Given the description of an element on the screen output the (x, y) to click on. 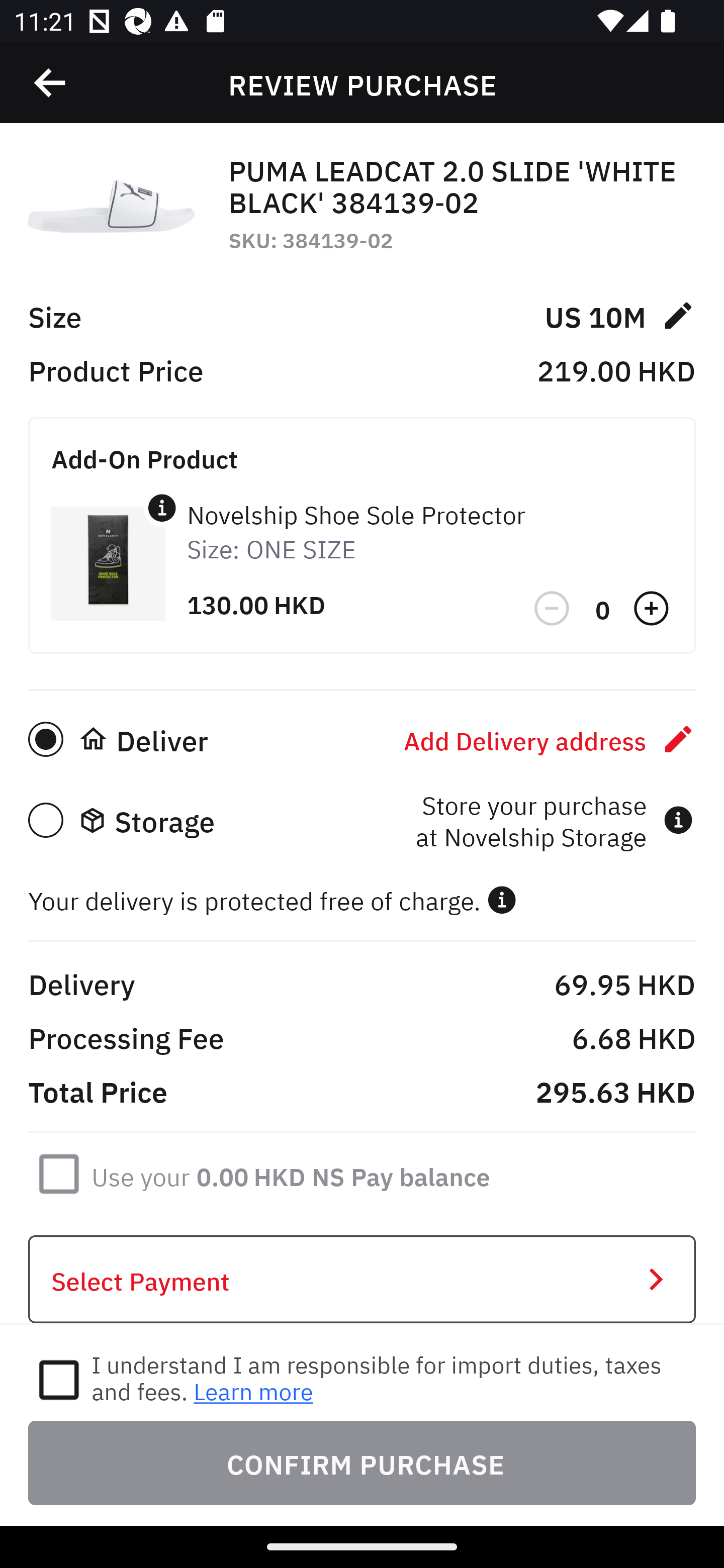
 (50, 83)
US 10M 󰏫 (619, 314)
 (162, 507)
 (553, 608)
 (652, 608)
󰚡 Deliver Add Delivery address 󰏫 (361, 739)
Add Delivery address 󰏫 (549, 739)
Store your purchase
at Novelship Storage  (554, 819)
 (501, 899)
Use your 0.00 HKD NS Pay balance (290, 1173)
Select Payment  (361, 1279)
 CONFIRM PURCHASE (361, 1462)
